Given the description of an element on the screen output the (x, y) to click on. 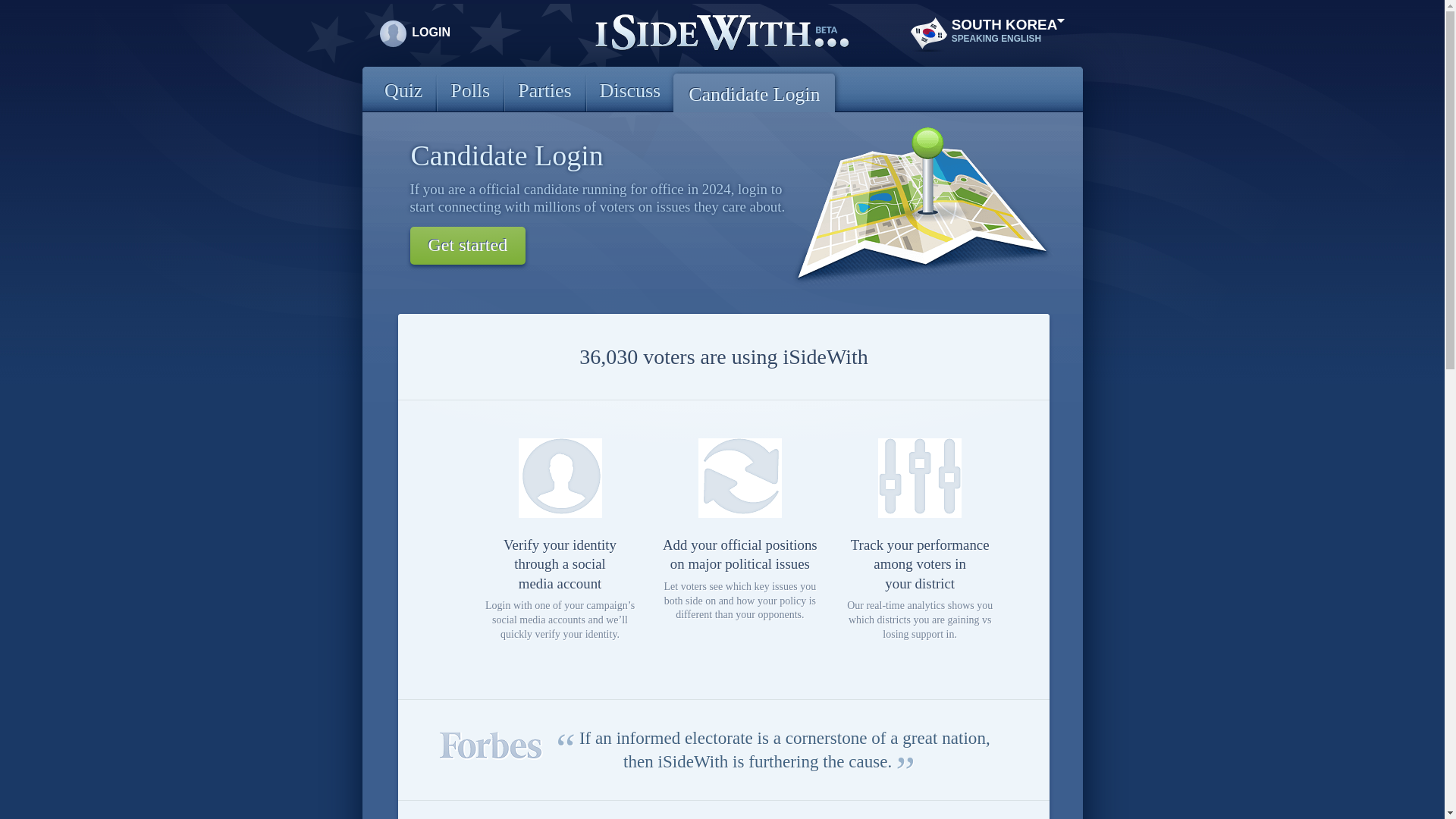
Quiz (403, 92)
SPEAKING ENGLISH (1008, 38)
SOUTH KOREA (1008, 23)
Get started (467, 245)
Polls (470, 92)
Candidate Login (753, 92)
Discuss (631, 92)
Parties (544, 92)
LOGIN (430, 27)
